Given the description of an element on the screen output the (x, y) to click on. 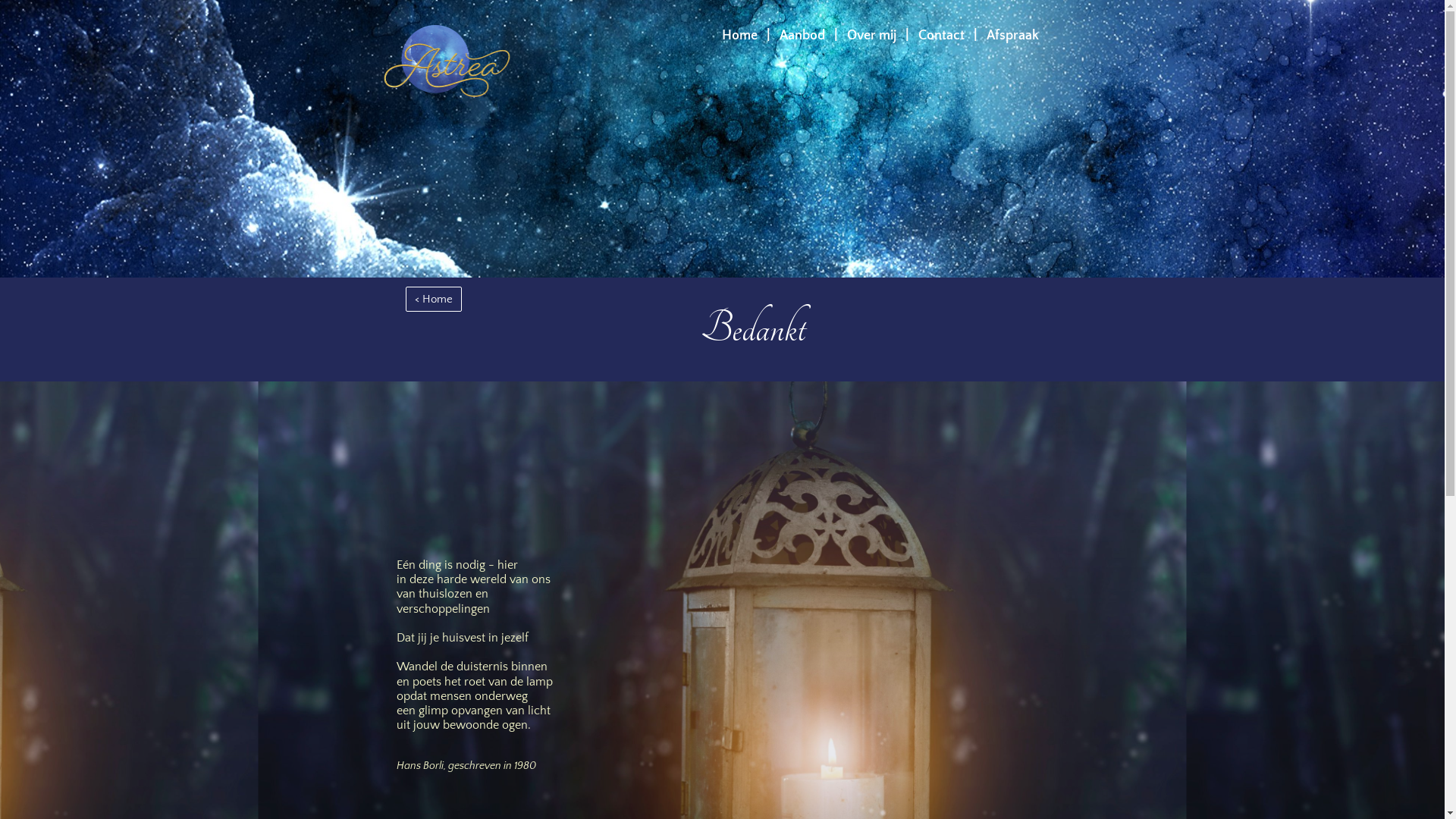
Over mij Element type: text (870, 35)
Aanbod Element type: text (802, 35)
Afspraak Element type: text (1011, 35)
Contact    Element type: text (944, 35)
Home  Element type: text (742, 35)
< Home Element type: text (433, 298)
  Element type: text (763, 35)
